Given the description of an element on the screen output the (x, y) to click on. 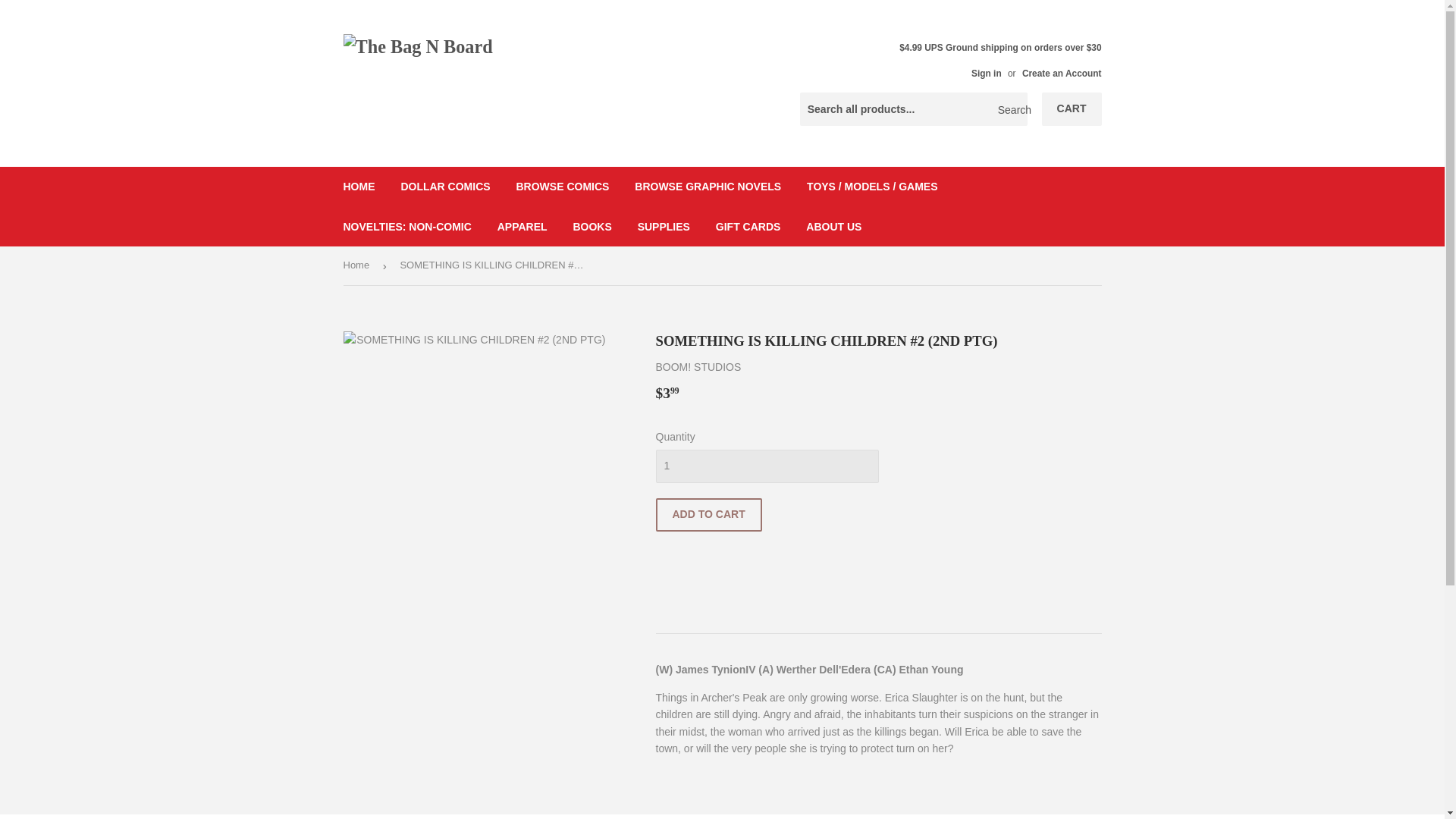
Back to the frontpage (358, 265)
Search (1009, 110)
Sign in (986, 72)
CART (1072, 109)
1 (766, 466)
Create an Account (1062, 72)
